Given the description of an element on the screen output the (x, y) to click on. 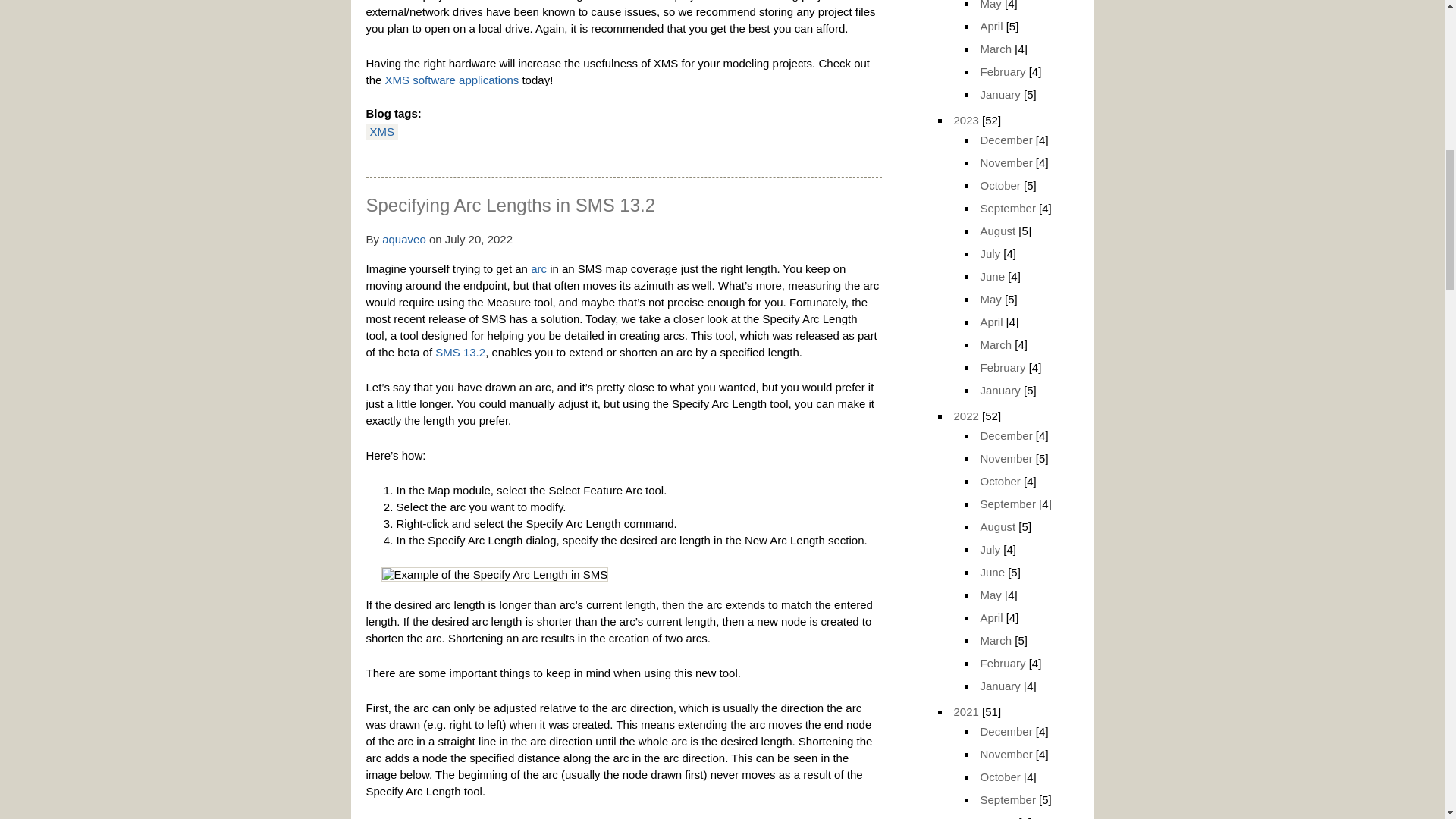
arc (539, 268)
SMS 13.2 (459, 351)
XMS (381, 131)
aquaveo (403, 238)
View user profile. (403, 238)
Specifying Arc Lengths in SMS 13.2 (510, 204)
XMS software applications (452, 79)
